Given the description of an element on the screen output the (x, y) to click on. 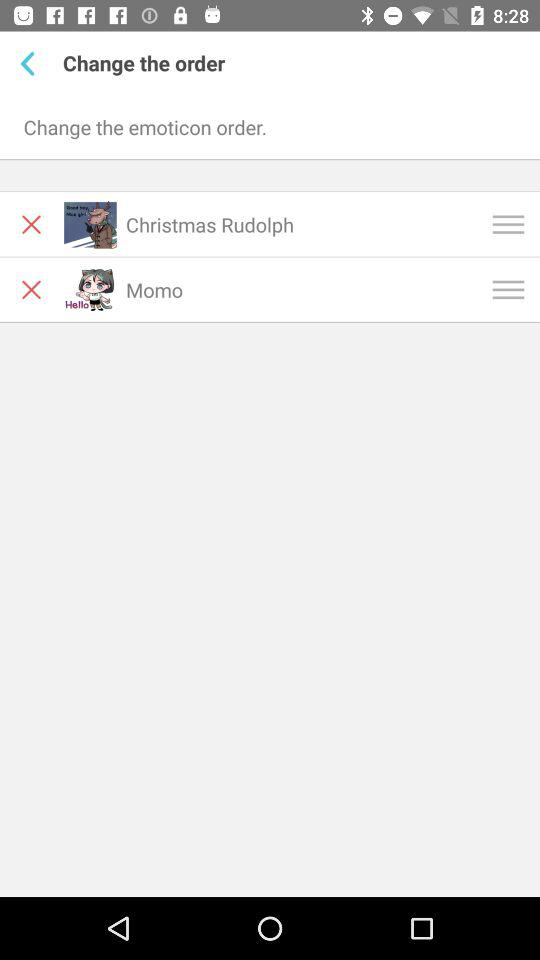
choose icon next to change the order (31, 63)
